Given the description of an element on the screen output the (x, y) to click on. 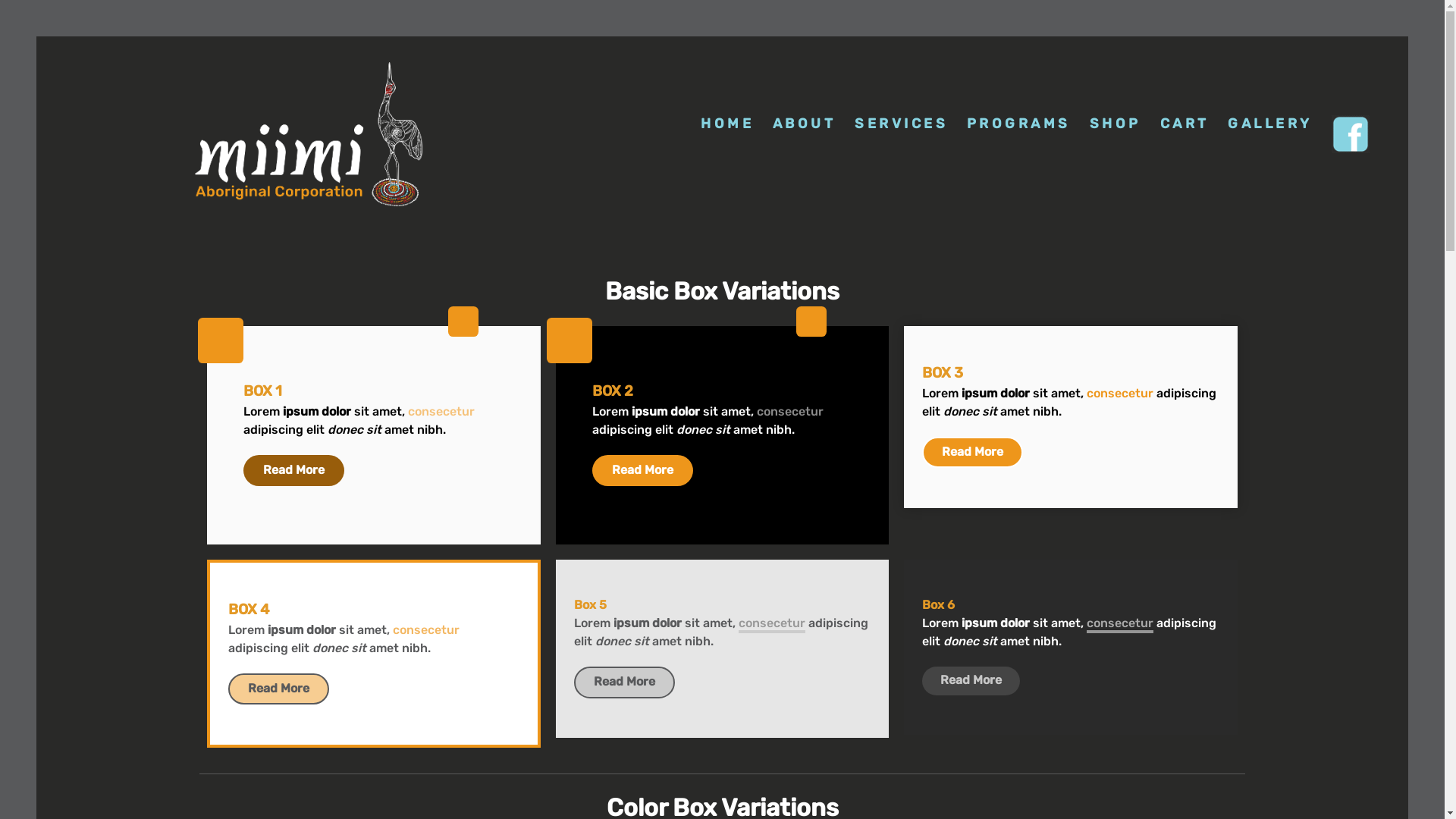
SHOP Element type: text (1114, 123)
Read More Element type: text (293, 470)
HOME Element type: text (727, 123)
ABOUT Element type: text (804, 123)
GALLERY Element type: text (1269, 123)
Read More Element type: text (624, 682)
PROGRAMS Element type: text (1018, 123)
consecetur Element type: text (425, 629)
Read More Element type: text (970, 680)
consecetur Element type: text (1119, 622)
consecetur Element type: text (789, 411)
SERVICES Element type: text (901, 123)
Read More Element type: text (972, 452)
Facebook Element type: hover (1351, 133)
consecetur Element type: text (440, 411)
Read More Element type: text (642, 470)
consecetur Element type: text (771, 622)
Read More Element type: text (278, 689)
consecetur Element type: text (1119, 392)
CART Element type: text (1184, 123)
